Given the description of an element on the screen output the (x, y) to click on. 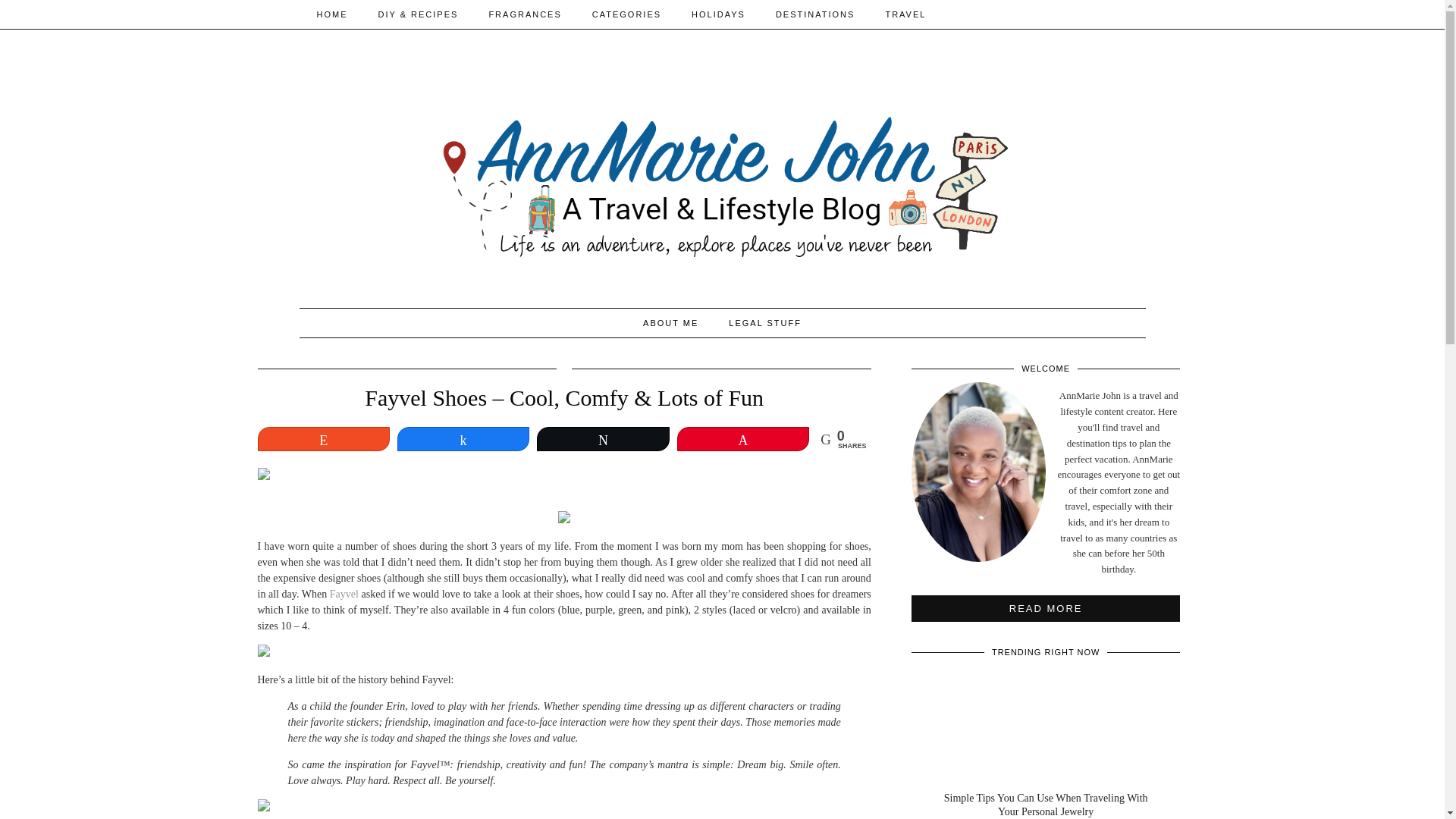
CATEGORIES (626, 14)
HOME (331, 14)
HOLIDAYS (718, 14)
DESTINATIONS (814, 14)
FRAGRANCES (524, 14)
